Given the description of an element on the screen output the (x, y) to click on. 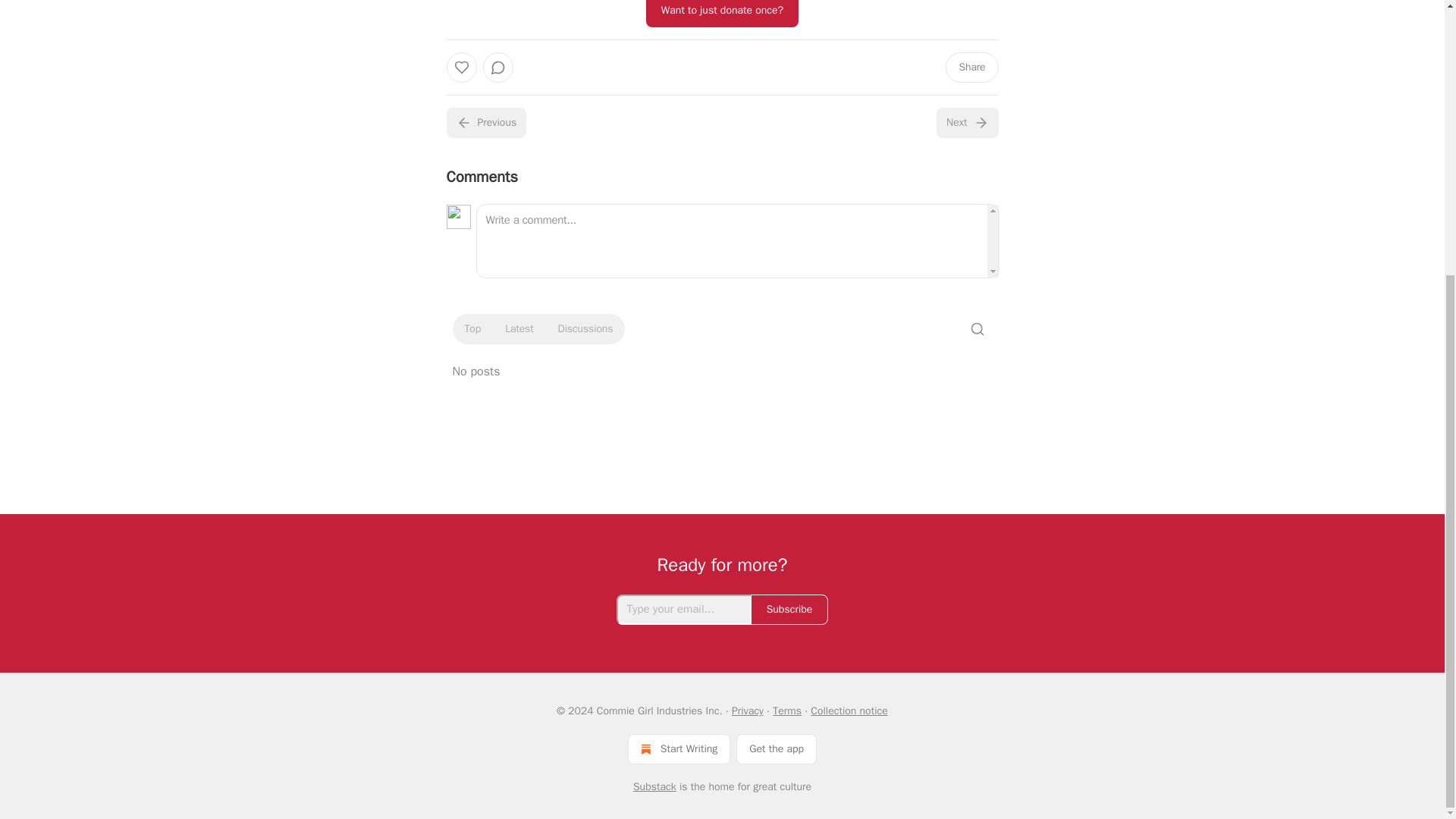
Latest (518, 328)
Next (966, 122)
Share (970, 67)
Want to just donate once? (721, 13)
Top (471, 328)
Discussions (585, 328)
Previous (485, 122)
